Given the description of an element on the screen output the (x, y) to click on. 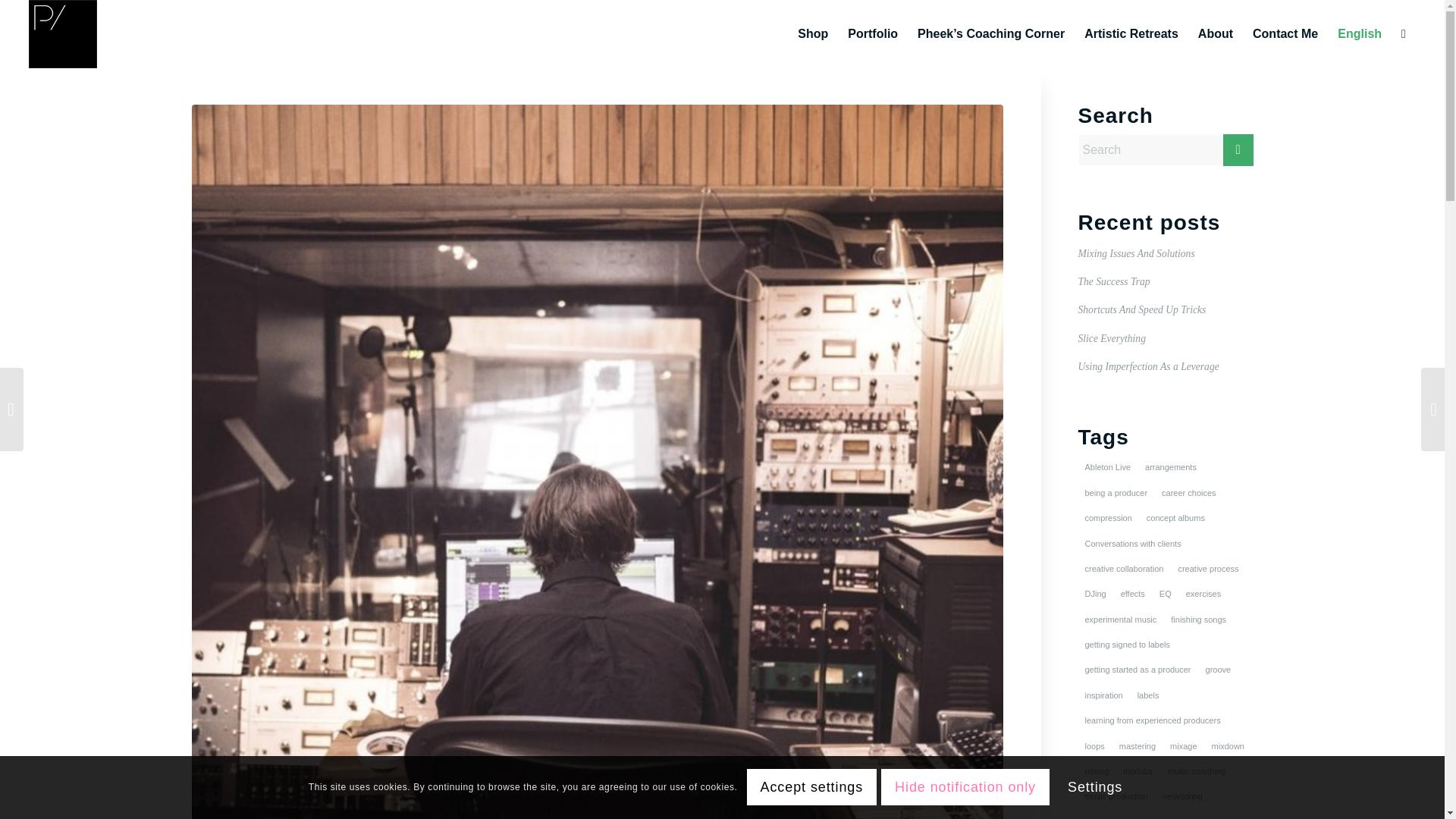
logo menu (63, 33)
English (1359, 33)
Contact Me (1285, 33)
Artistic Retreats (1131, 33)
Portfolio (872, 33)
English (1359, 33)
